Given the description of an element on the screen output the (x, y) to click on. 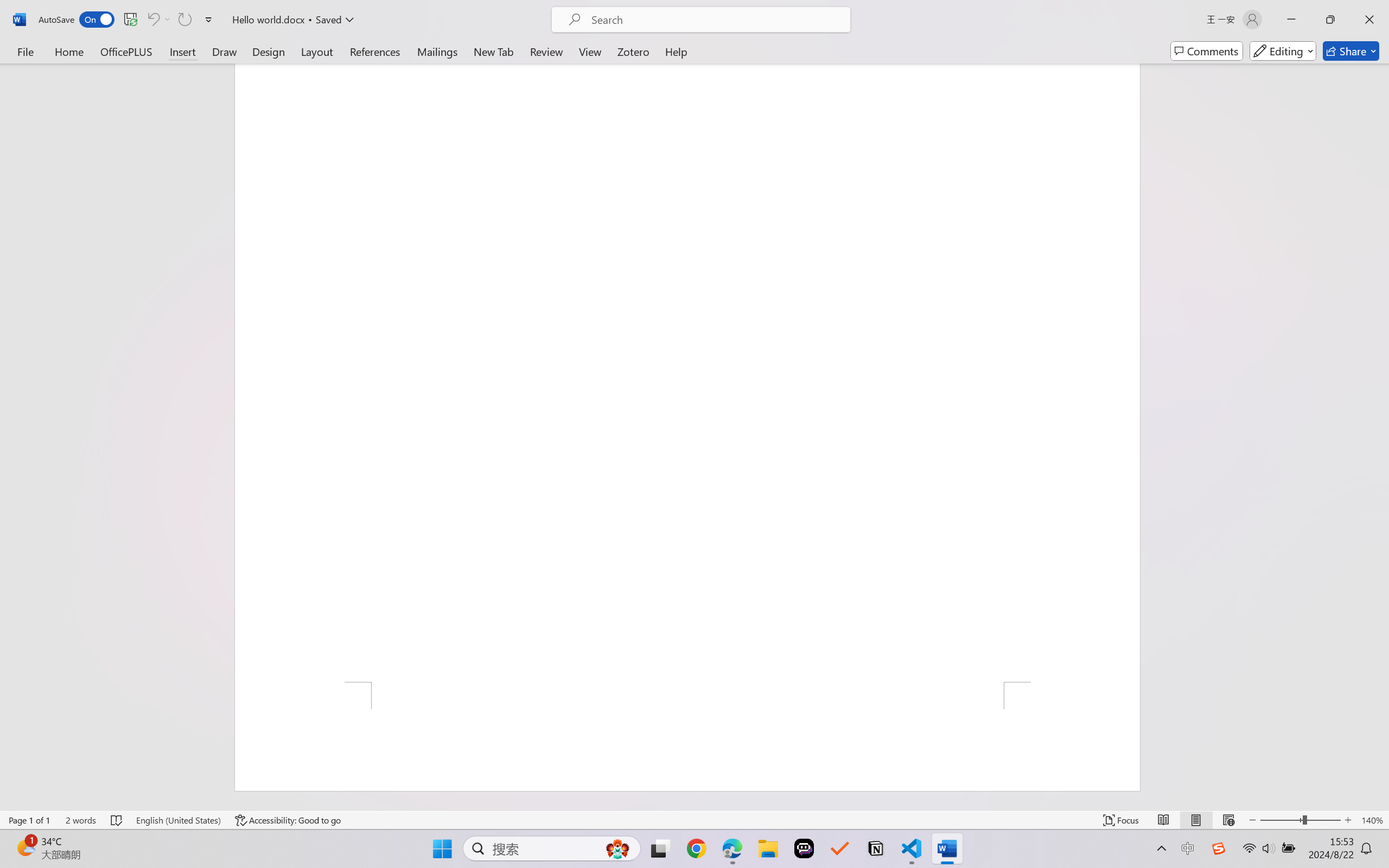
AutoSave (76, 19)
Page Number Page 1 of 1 (29, 819)
Zoom 140% (1372, 819)
Accessibility Checker Accessibility: Good to go (288, 819)
Draw (224, 51)
Class: MsoCommandBar (694, 819)
Customize Quick Access Toolbar (208, 19)
Zoom (1300, 819)
Save (130, 19)
